Given the description of an element on the screen output the (x, y) to click on. 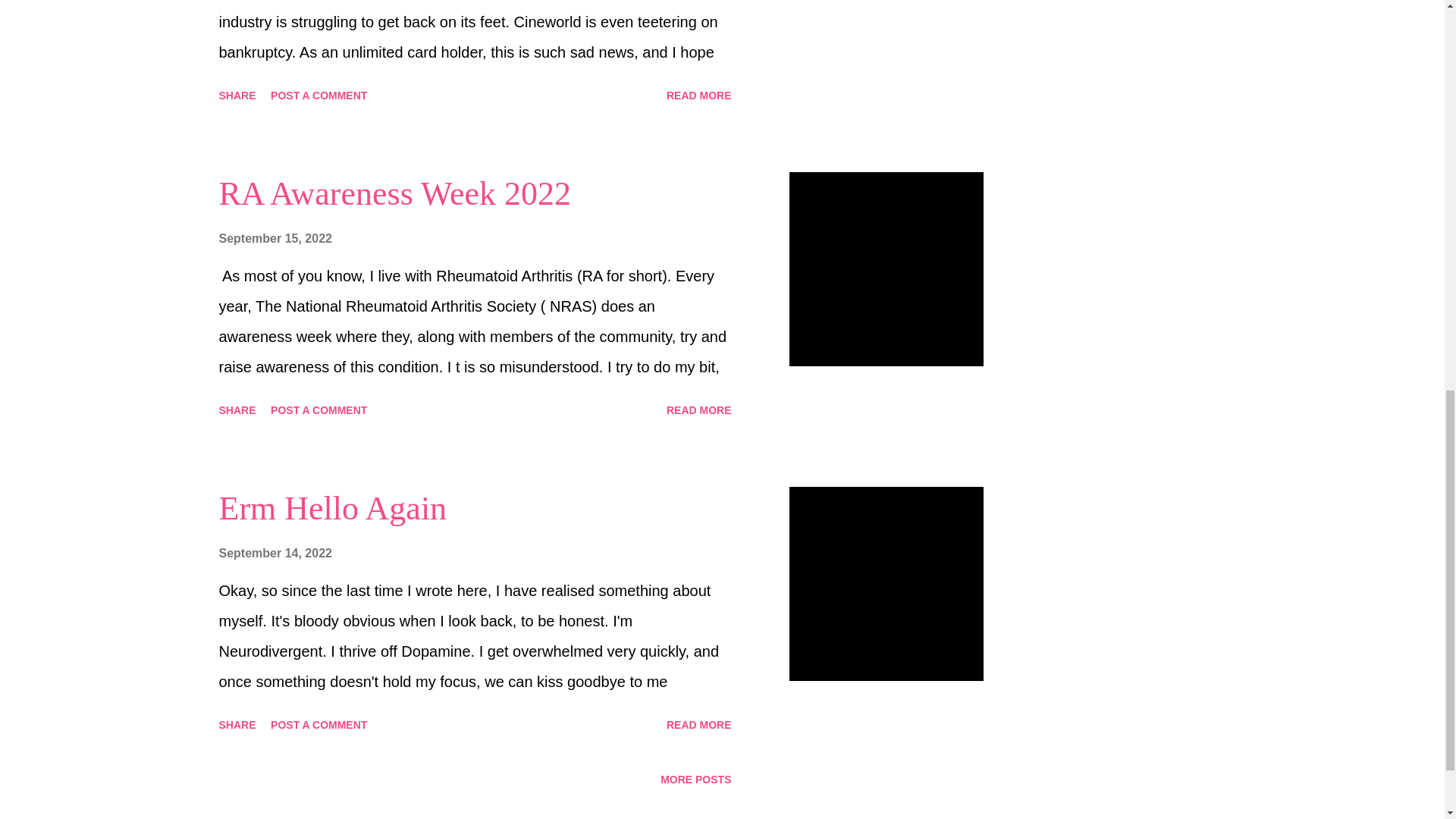
RA Awareness Week 2022 (394, 193)
SHARE (237, 95)
SHARE (237, 410)
Erm Hello Again (332, 508)
September 15, 2022 (274, 237)
READ MORE (699, 410)
POST A COMMENT (318, 95)
READ MORE (699, 95)
POST A COMMENT (318, 410)
